Given the description of an element on the screen output the (x, y) to click on. 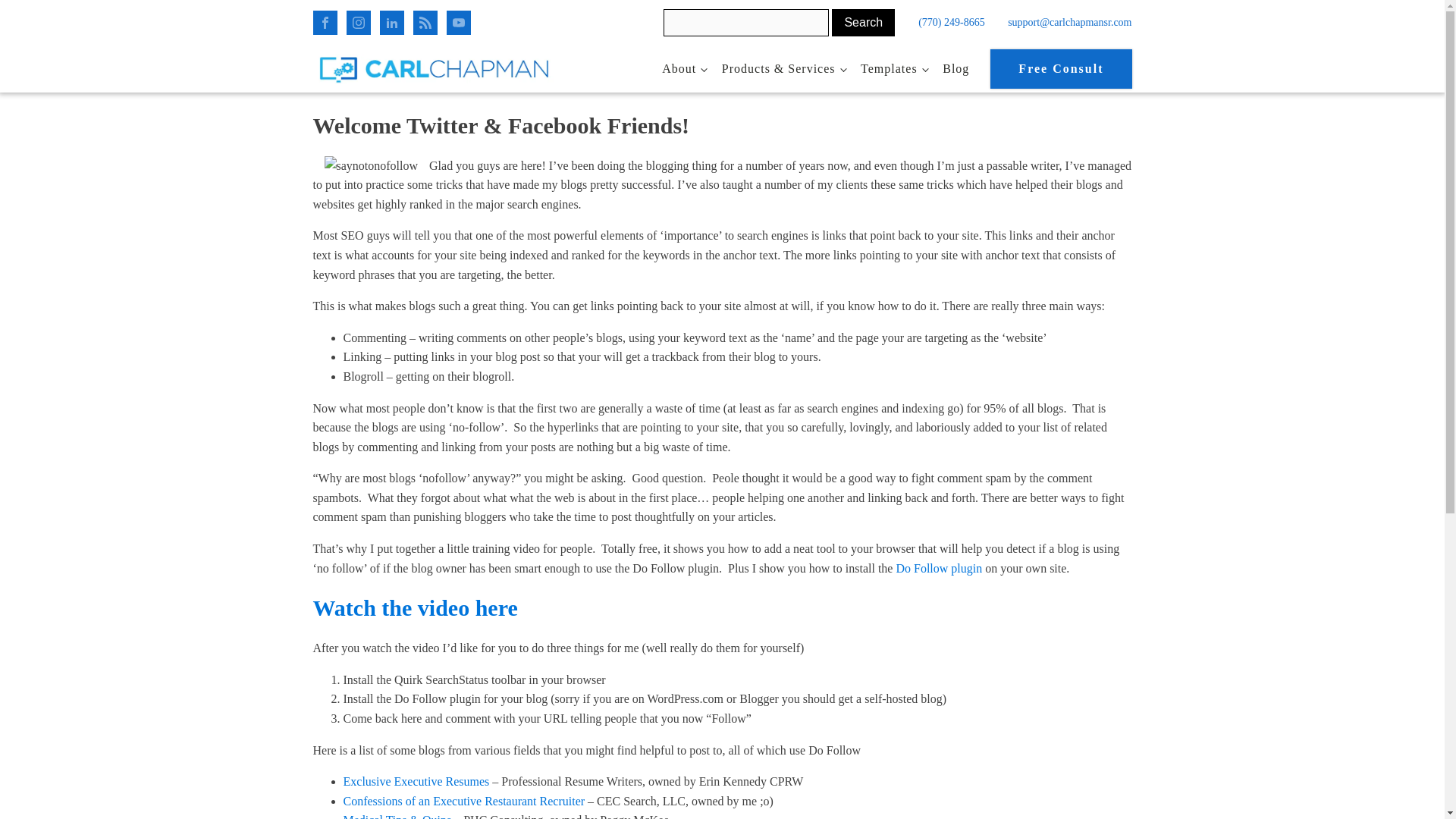
saynotonofollow (371, 166)
Search (863, 22)
About (683, 68)
Search (863, 22)
Blog (955, 68)
Free Consult (1060, 68)
Templates (893, 68)
